Given the description of an element on the screen output the (x, y) to click on. 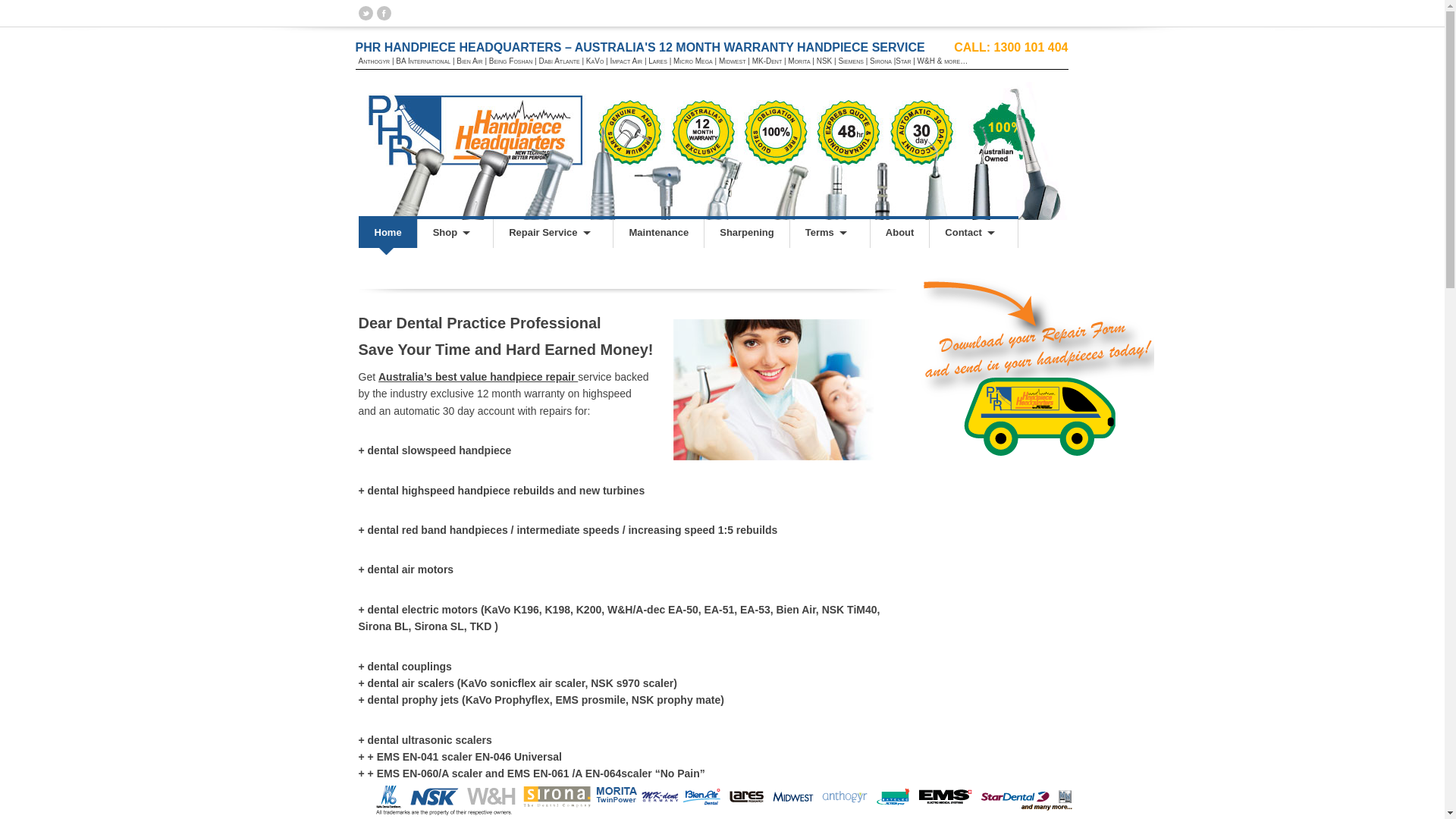
Sharpening Element type: text (746, 233)
About Element type: text (899, 233)
Home Element type: text (386, 233)
Maintenance Element type: text (657, 233)
